Given the description of an element on the screen output the (x, y) to click on. 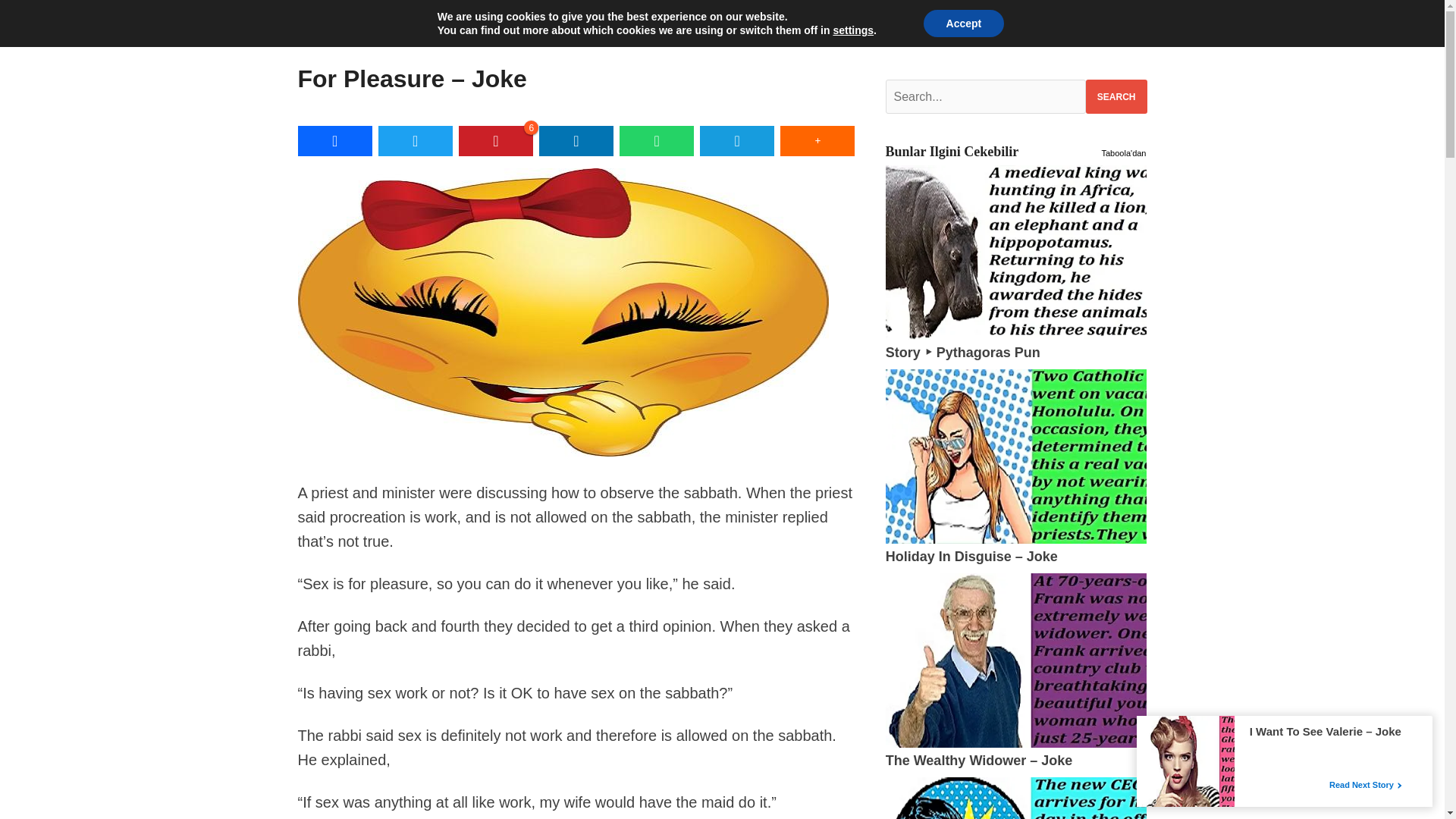
FUNNY JOKE (430, 17)
FUNNY (336, 17)
STORY (525, 17)
QUOTES (607, 17)
WhatsApp (657, 141)
Add this to LinkedIn (575, 141)
Telegram (737, 141)
Share this on Facebook (334, 141)
RANDOM POST (710, 17)
More share links (817, 141)
Tweet this ! (415, 141)
6 (495, 141)
Submit this to Pinterest (495, 141)
